Given the description of an element on the screen output the (x, y) to click on. 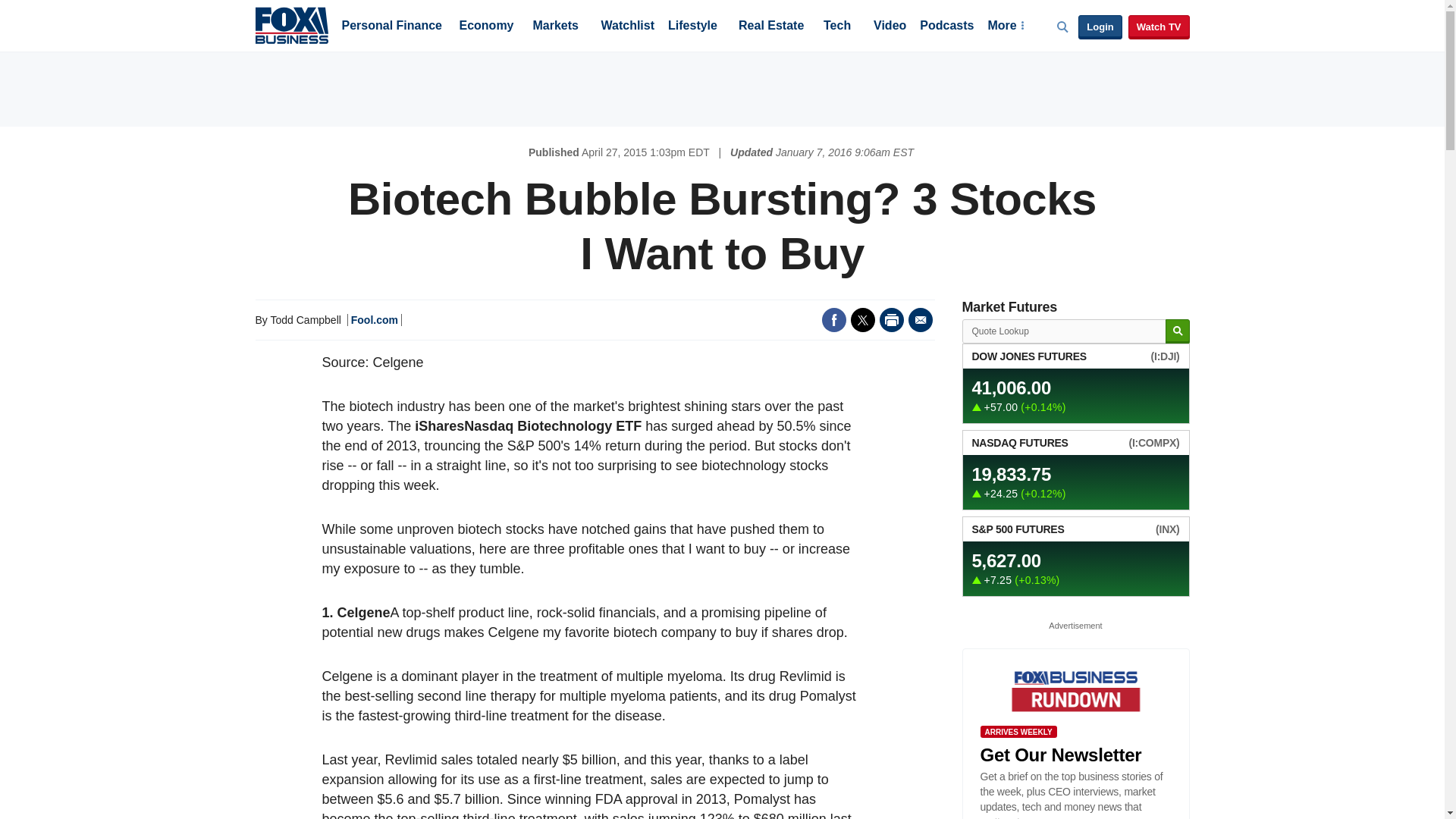
Tech (837, 27)
Lifestyle (692, 27)
More (1005, 27)
Watchlist (626, 27)
Video (889, 27)
Watch TV (1158, 27)
Real Estate (770, 27)
Search (1176, 331)
Podcasts (947, 27)
Fox Business (290, 24)
